Given the description of an element on the screen output the (x, y) to click on. 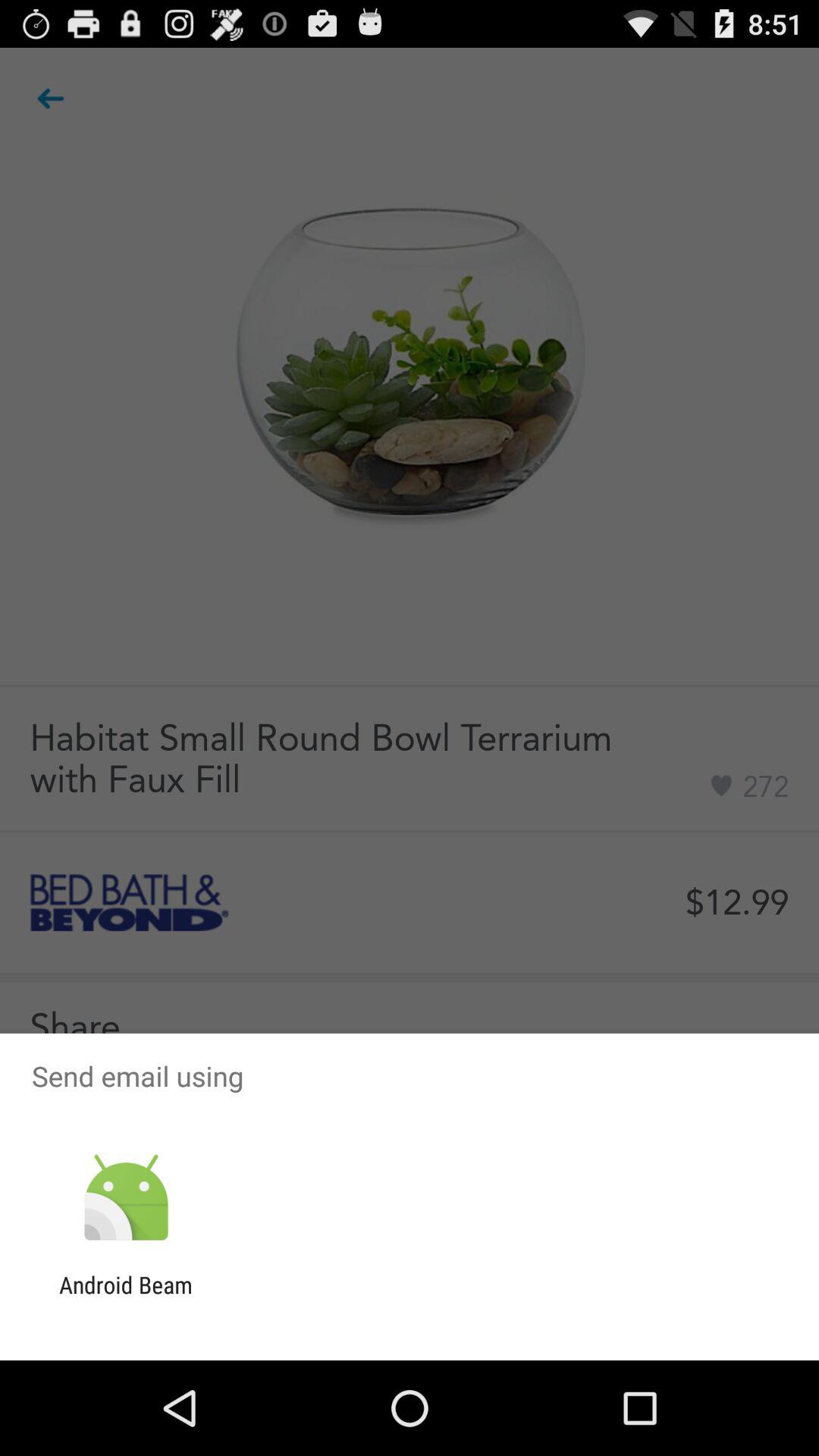
click the app below the send email using (126, 1198)
